Given the description of an element on the screen output the (x, y) to click on. 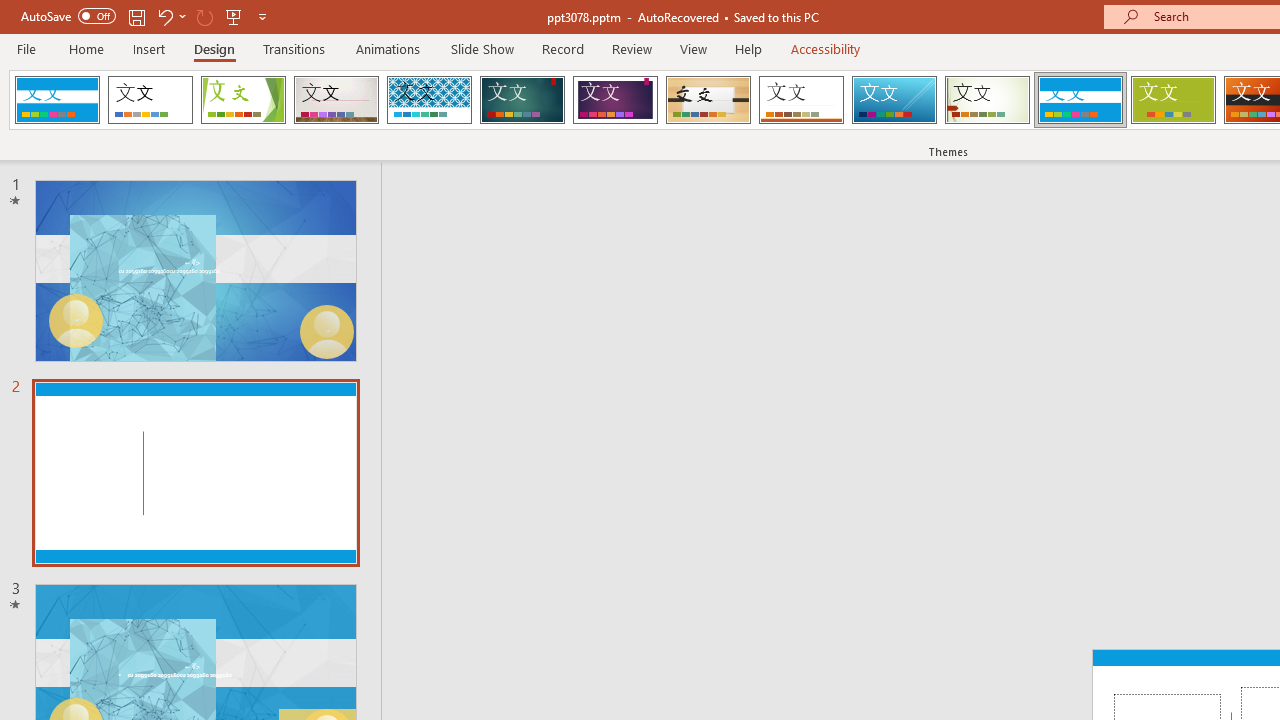
Ion (522, 100)
Basis (1172, 100)
